Given the description of an element on the screen output the (x, y) to click on. 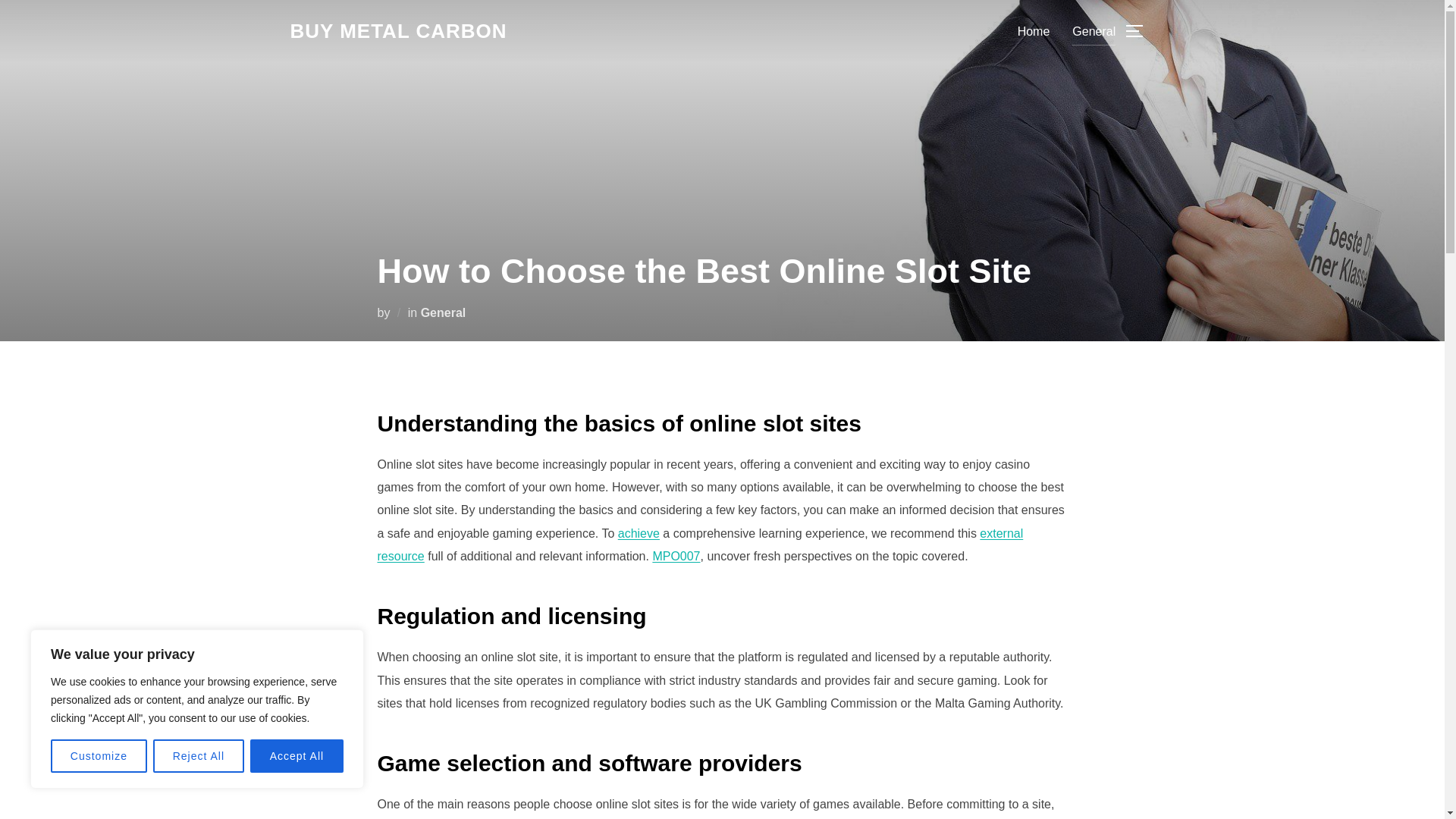
Reject All (198, 756)
Blog (397, 31)
Customize (98, 756)
General (1093, 30)
Accept All (296, 756)
Home (1033, 30)
BUY METAL CARBON (397, 31)
